Given the description of an element on the screen output the (x, y) to click on. 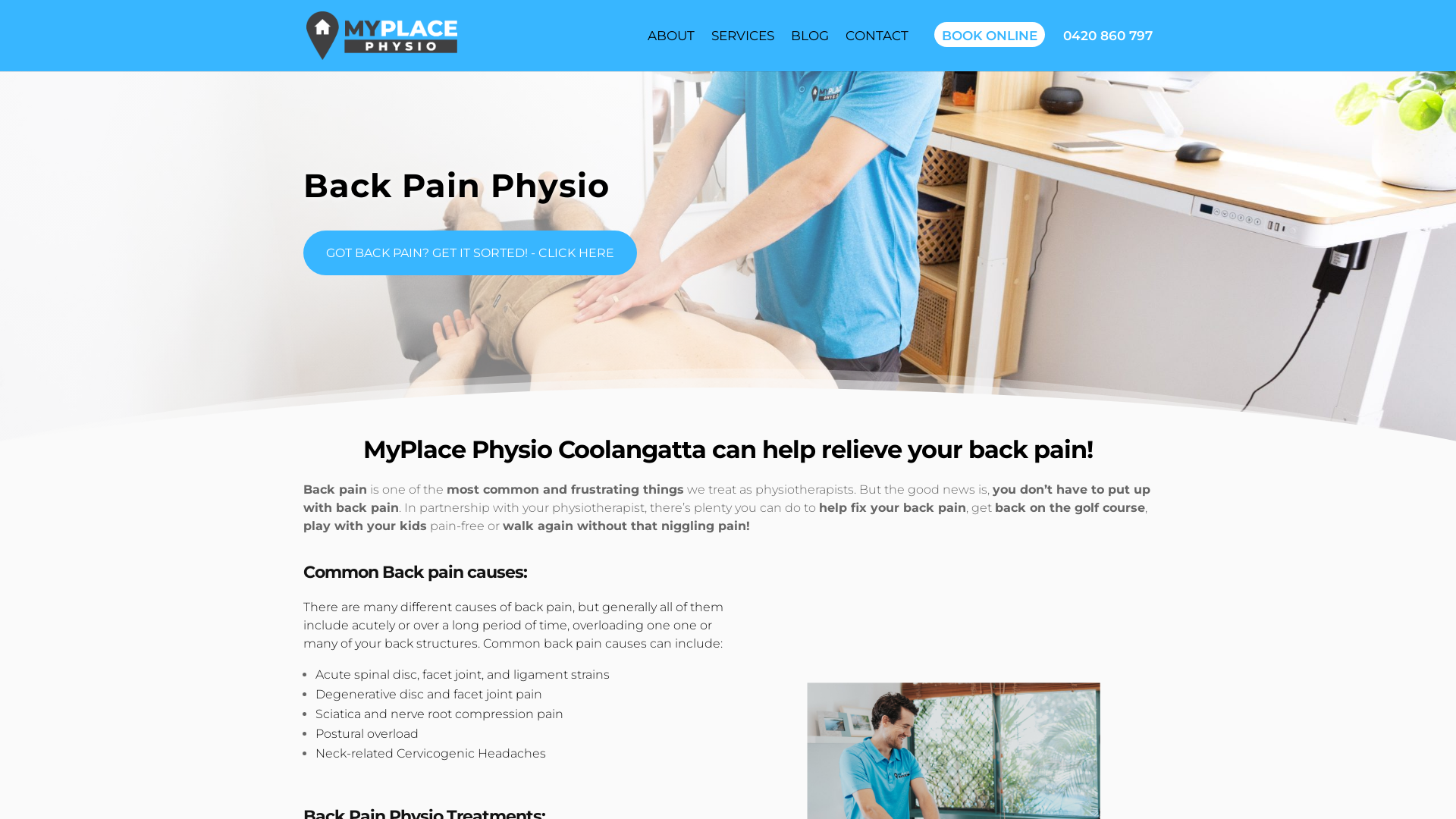
CONTACT Element type: text (876, 35)
BLOG Element type: text (809, 35)
BOOK ONLINE Element type: text (989, 34)
0420 860 797 Element type: text (1107, 35)
ABOUT Element type: text (670, 35)
SERVICES Element type: text (742, 35)
GOT BACK PAIN? GET IT SORTED! - CLICK HERE Element type: text (470, 252)
